Given the description of an element on the screen output the (x, y) to click on. 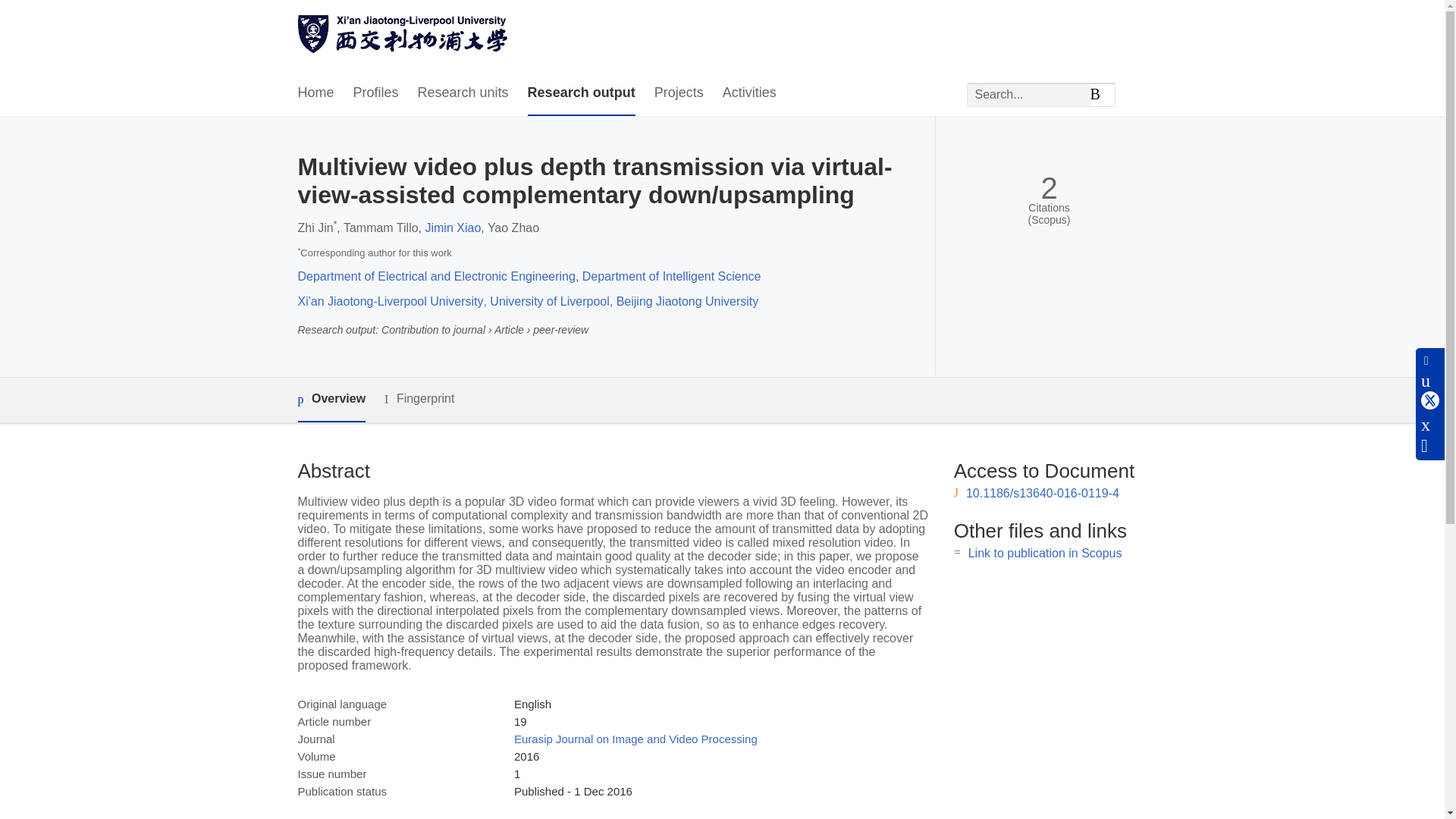
Eurasip Journal on Image and Video Processing (635, 738)
Fingerprint (419, 398)
Xi'an Jiaotong-Liverpool University (390, 300)
Projects (678, 93)
Research units (462, 93)
Beijing Jiaotong University (686, 300)
Activities (749, 93)
Department of Intelligent Science (671, 276)
Link to publication in Scopus (1045, 553)
University of Liverpool (548, 300)
Jimin Xiao (452, 227)
Profiles (375, 93)
Overview (331, 399)
Department of Electrical and Electronic Engineering (436, 276)
